Given the description of an element on the screen output the (x, y) to click on. 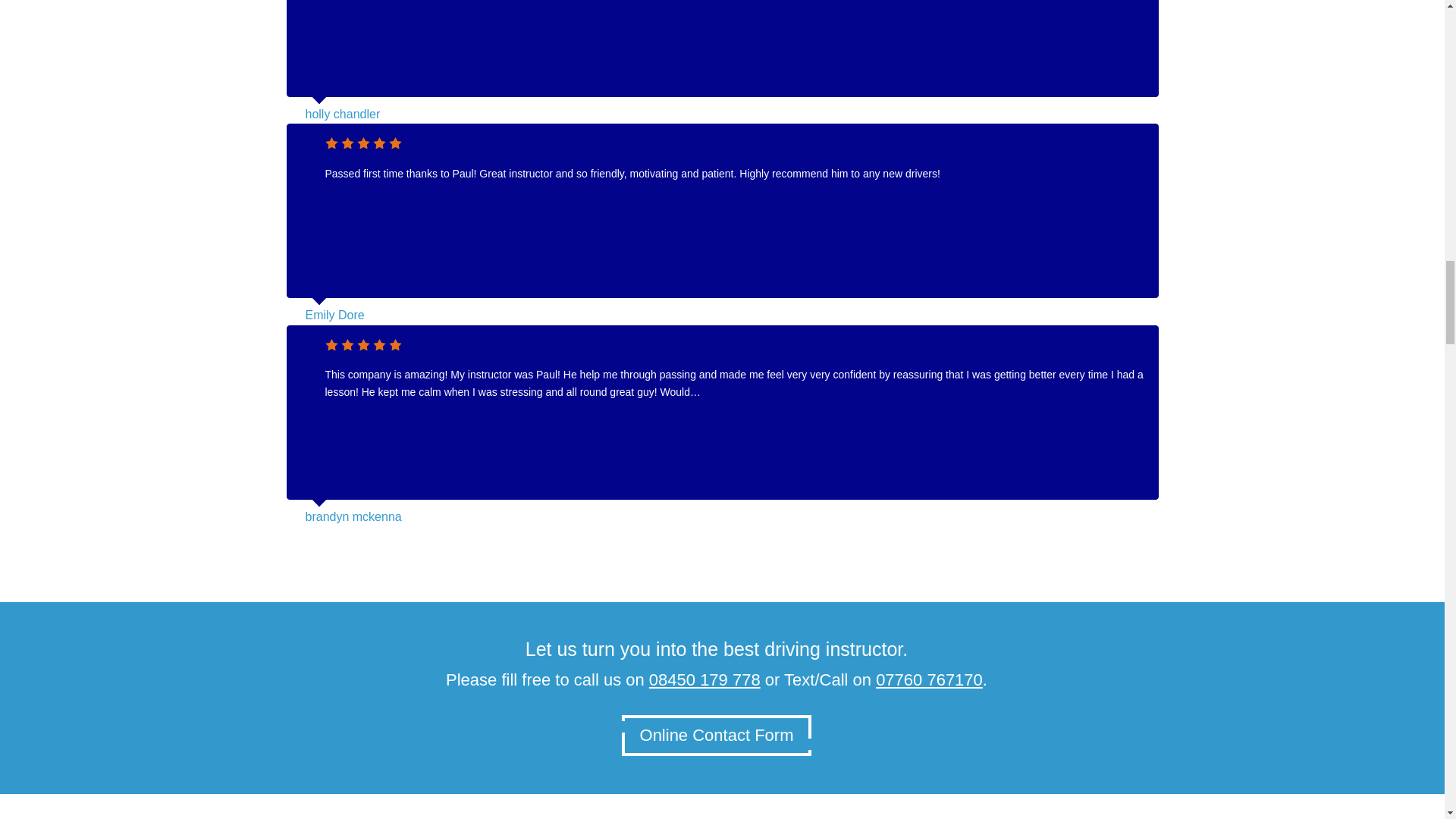
Online Contact Form (716, 734)
08450 179 778 (704, 679)
holly chandler (342, 113)
07760 767170 (929, 679)
Emily Dore (334, 314)
brandyn mckenna (352, 516)
